Given the description of an element on the screen output the (x, y) to click on. 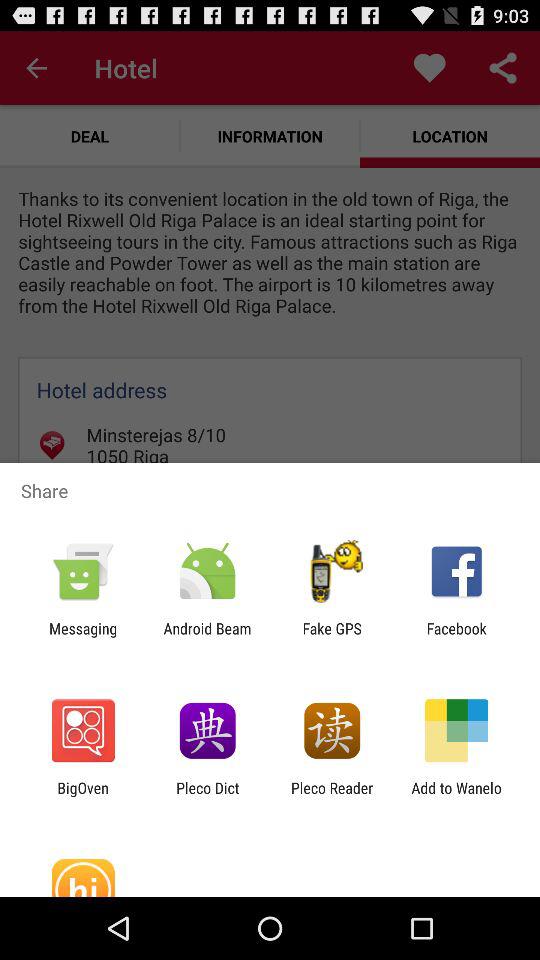
tap app to the right of fake gps item (456, 637)
